Given the description of an element on the screen output the (x, y) to click on. 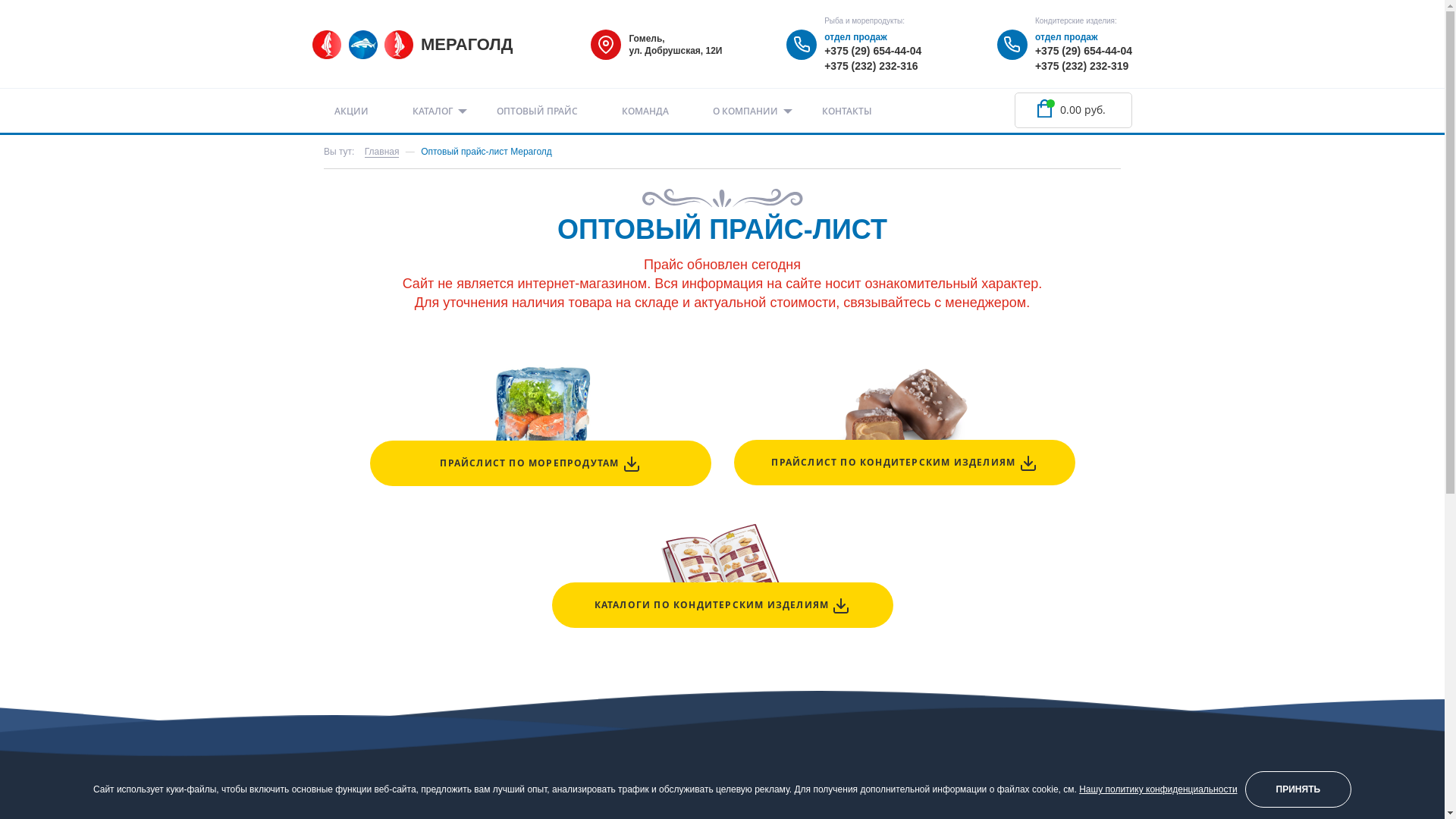
+375 (29) 654-44-04 Element type: text (872, 50)
+375 (232) 232-319 Element type: text (1081, 65)
+375 (29) 654-44-04 Element type: text (1083, 50)
+375 (232) 232-316 Element type: text (870, 65)
